Given the description of an element on the screen output the (x, y) to click on. 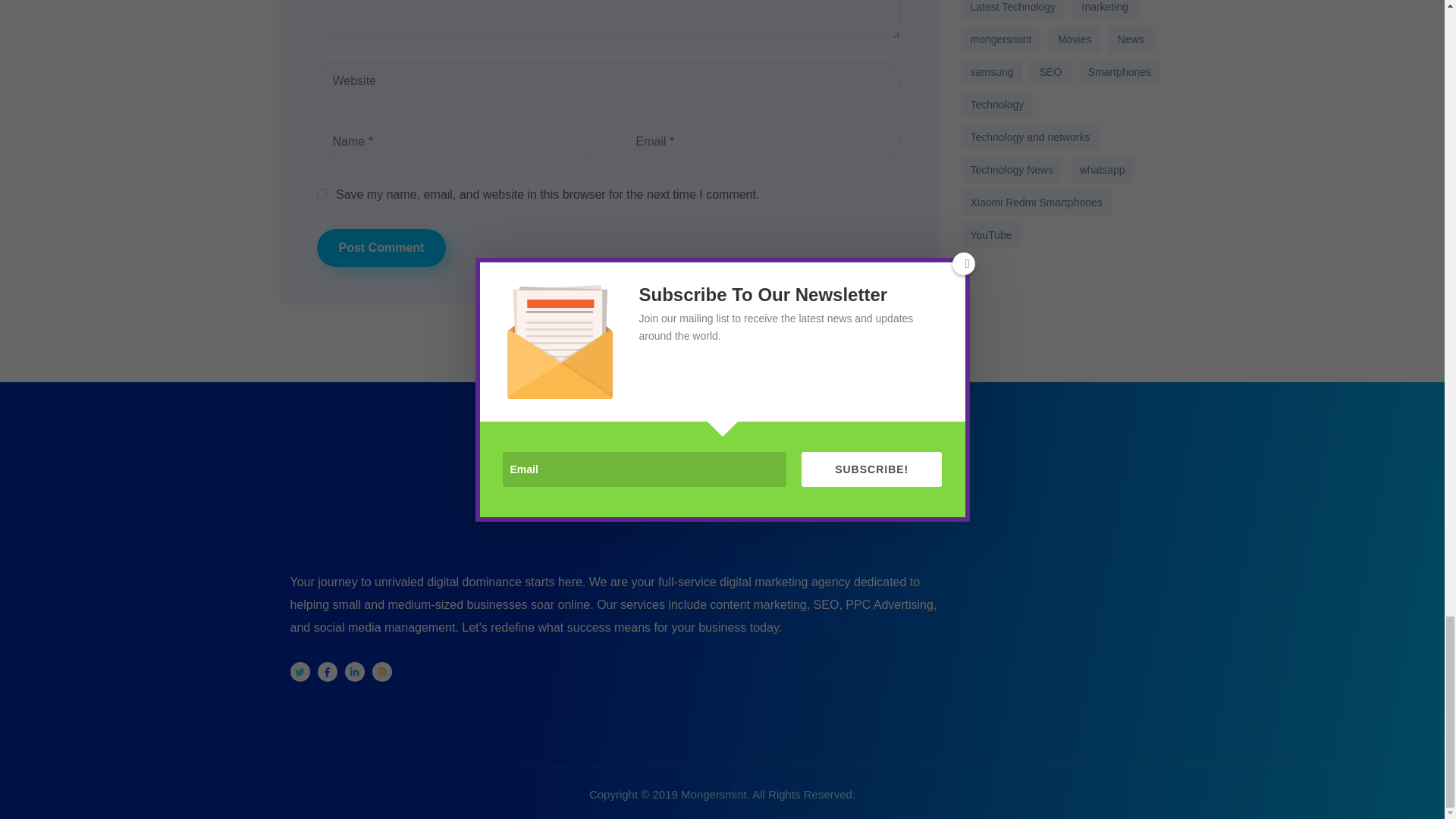
yes (321, 194)
Post Comment (381, 247)
